Given the description of an element on the screen output the (x, y) to click on. 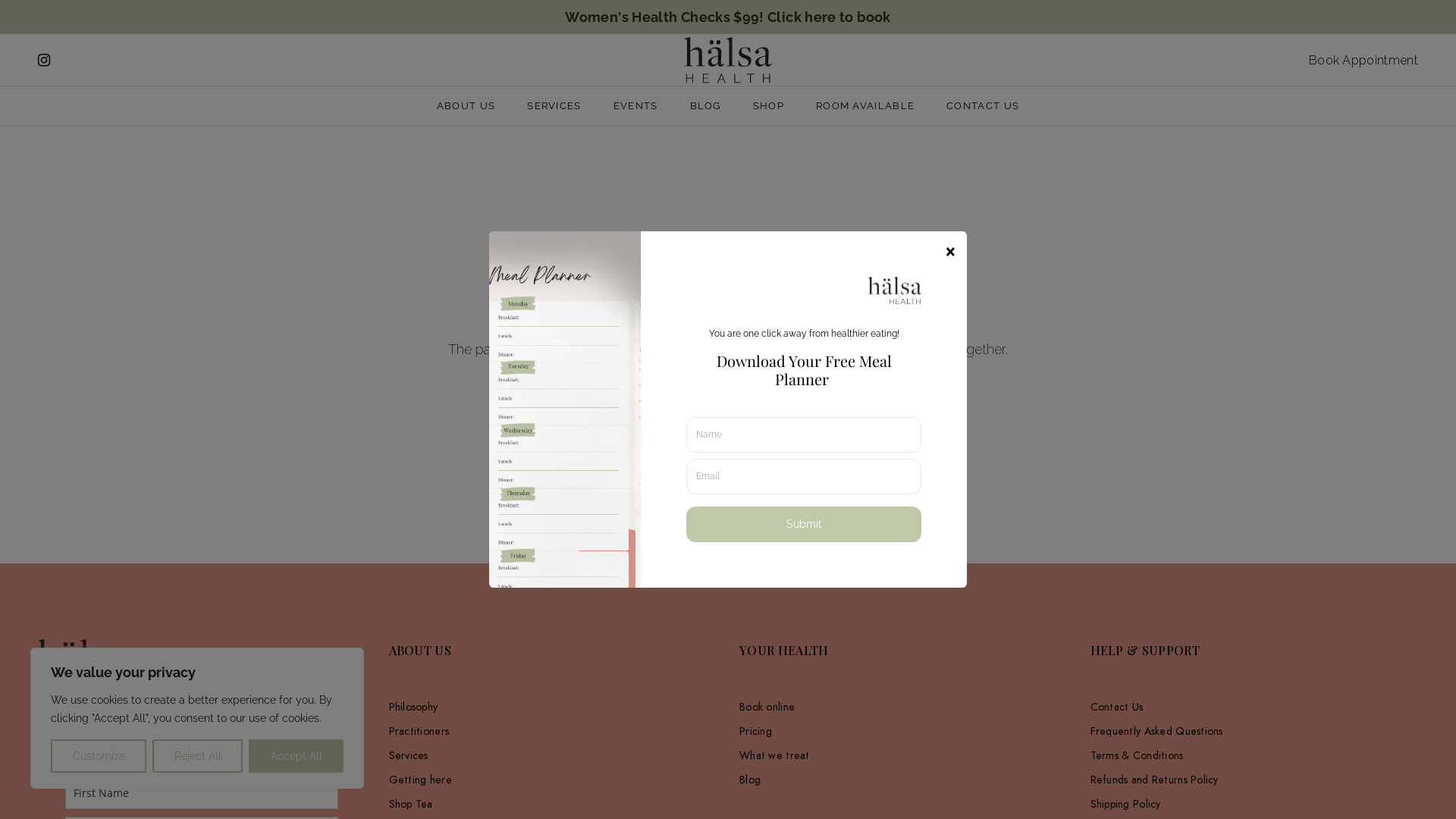
Refunds and Returns Policy Element type: text (1254, 779)
Shop Tea Element type: text (552, 803)
Services Element type: text (552, 754)
ROOM AVAILABLE Element type: text (864, 105)
Terms & Conditions Element type: text (1254, 754)
ABOUT US Element type: text (465, 105)
Book online Element type: text (903, 706)
Contact Us Element type: text (1254, 706)
SERVICES Element type: text (553, 105)
Blog Element type: text (903, 779)
Frequently Asked Questions Element type: text (1254, 730)
Getting here Element type: text (552, 779)
Accept All Element type: text (295, 755)
Book Appointment Element type: text (1363, 60)
CONTACT US Element type: text (982, 105)
EVENTS Element type: text (635, 105)
Philosophy Element type: text (552, 706)
Women's Health Checks $99! Click here to book Element type: text (727, 17)
Reject All Element type: text (197, 755)
Shipping Policy Element type: text (1254, 803)
What we treat Element type: text (903, 754)
Pricing Element type: text (903, 730)
BLOG Element type: text (705, 105)
SHOP Element type: text (768, 105)
Customize Element type: text (98, 755)
Practitioners Element type: text (552, 730)
